Given the description of an element on the screen output the (x, y) to click on. 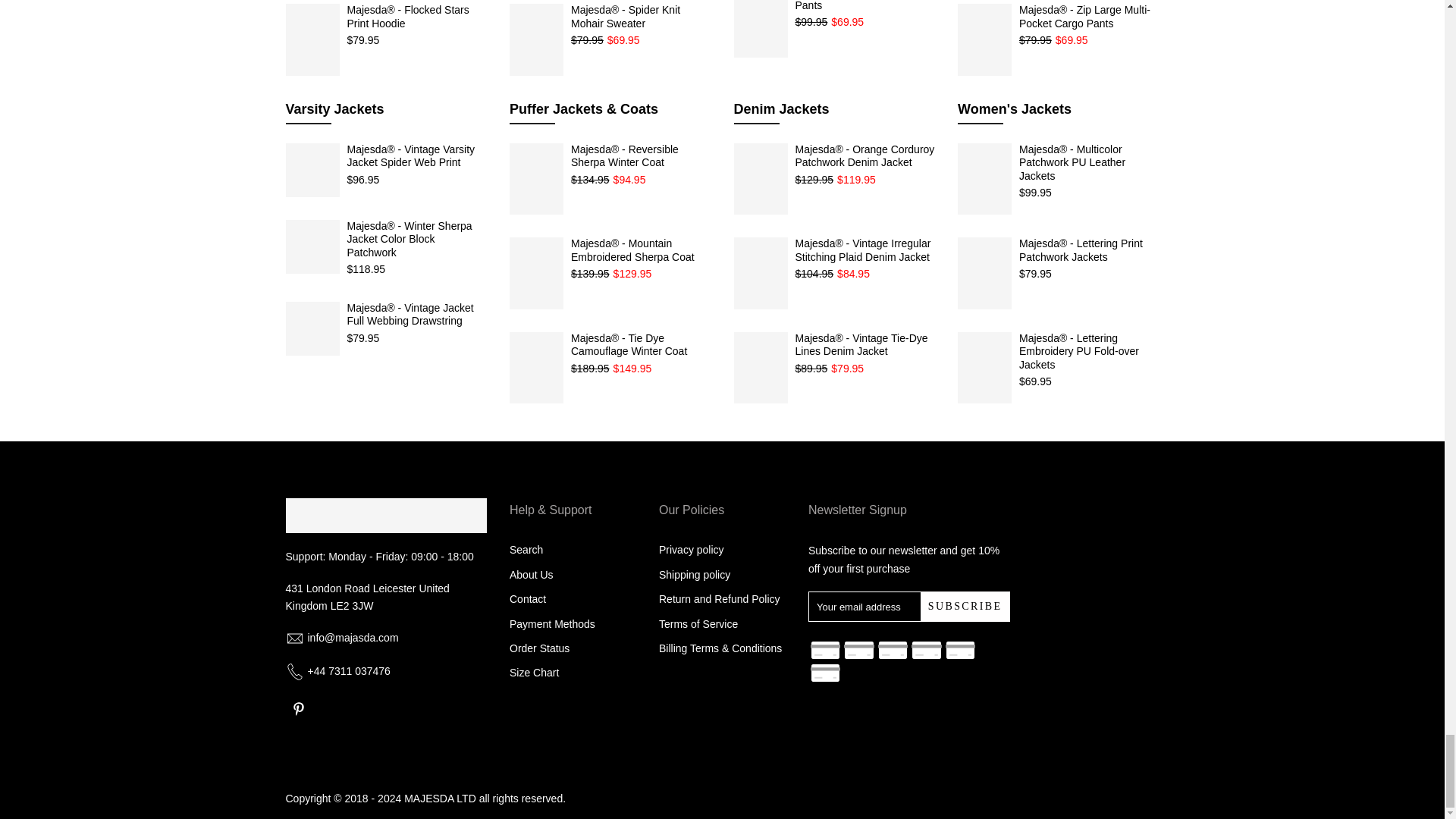
Follow on Pinterest (298, 708)
